Given the description of an element on the screen output the (x, y) to click on. 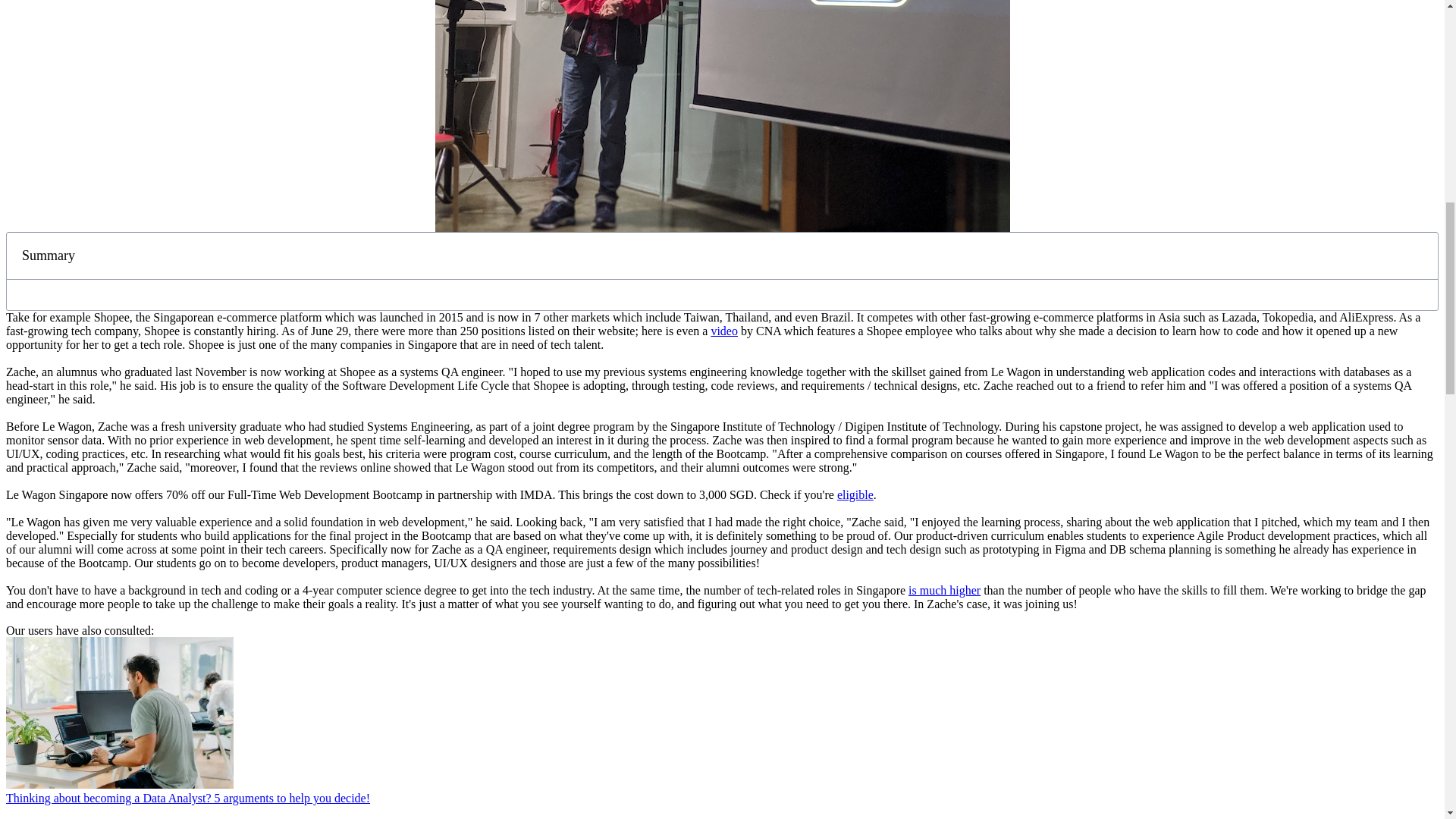
video (724, 330)
eligible (855, 494)
is much higher (943, 590)
